Given the description of an element on the screen output the (x, y) to click on. 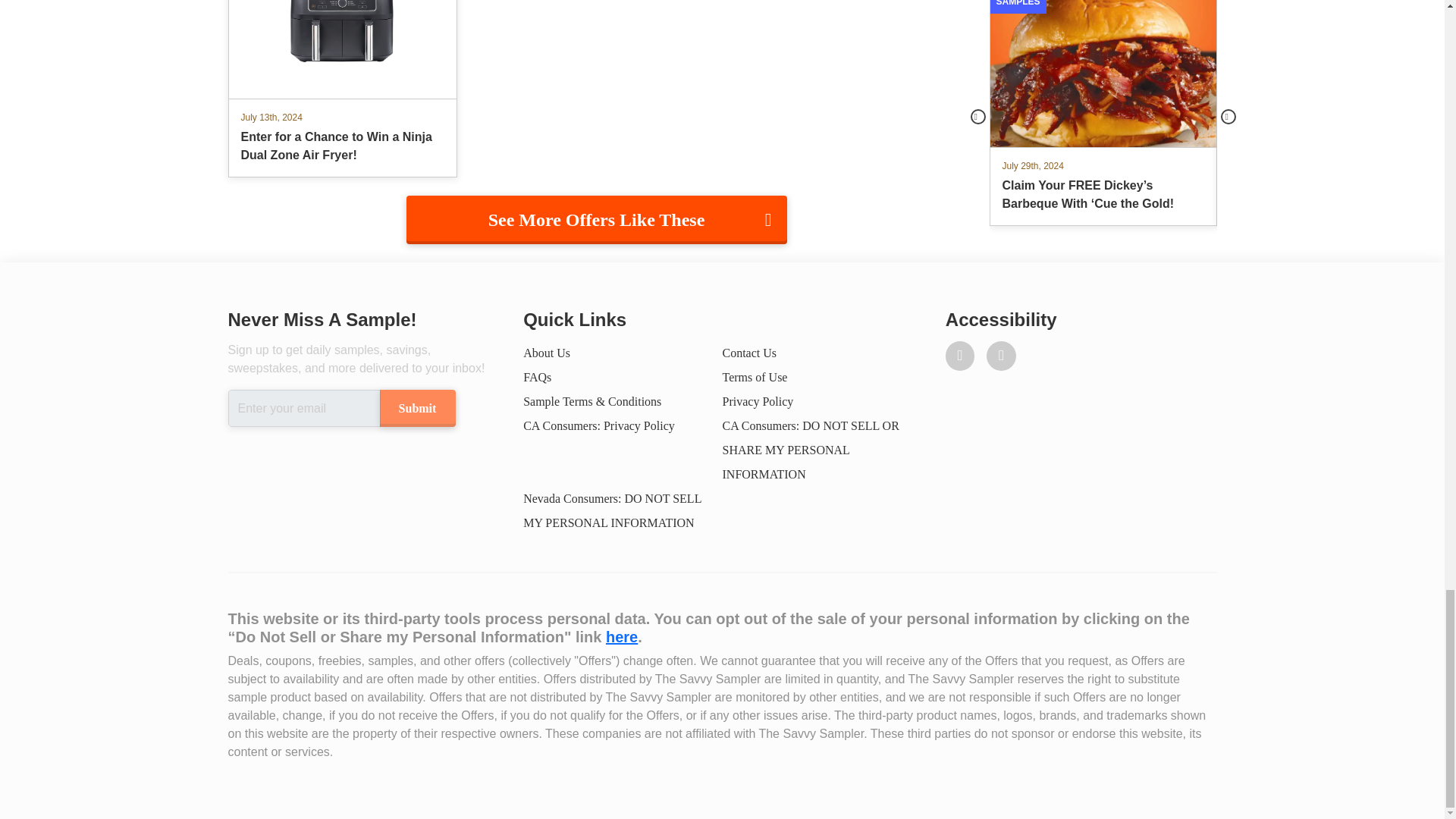
See More Offers Like These (596, 219)
